Given the description of an element on the screen output the (x, y) to click on. 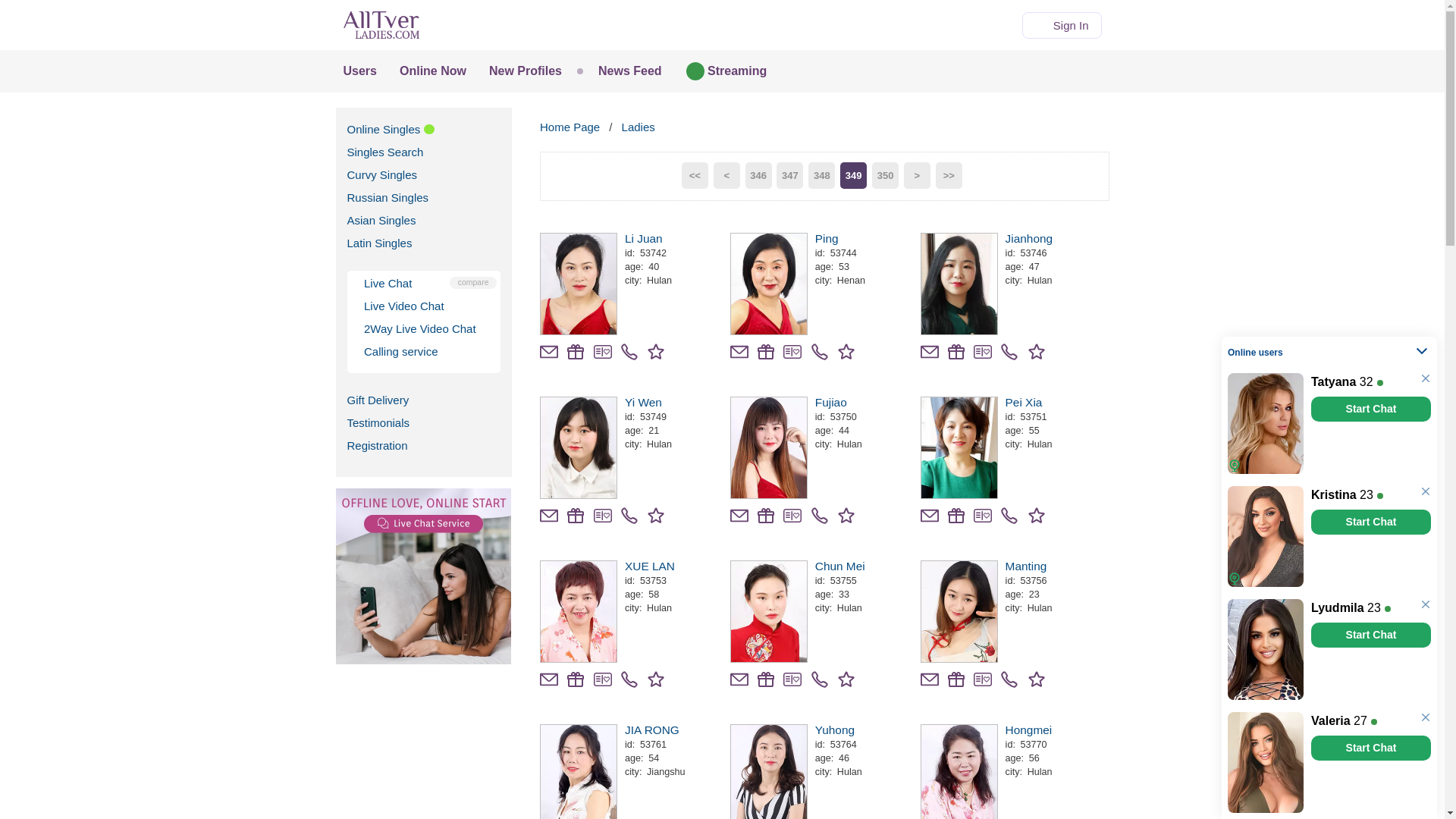
Order a Phone Call (1008, 352)
Send a Virtual Gift (982, 352)
Add to favorites (1039, 350)
Russian Singles (388, 196)
Send a Virtual Gift (602, 352)
347 (789, 175)
346 (758, 175)
Send a letter (929, 352)
Asian Singles (381, 219)
Sign In (1062, 25)
350 (885, 175)
Asian single Li Juan from Hulan, China (675, 238)
Users (358, 70)
Send a gift (575, 352)
Send a Virtual Gift (792, 352)
